Given the description of an element on the screen output the (x, y) to click on. 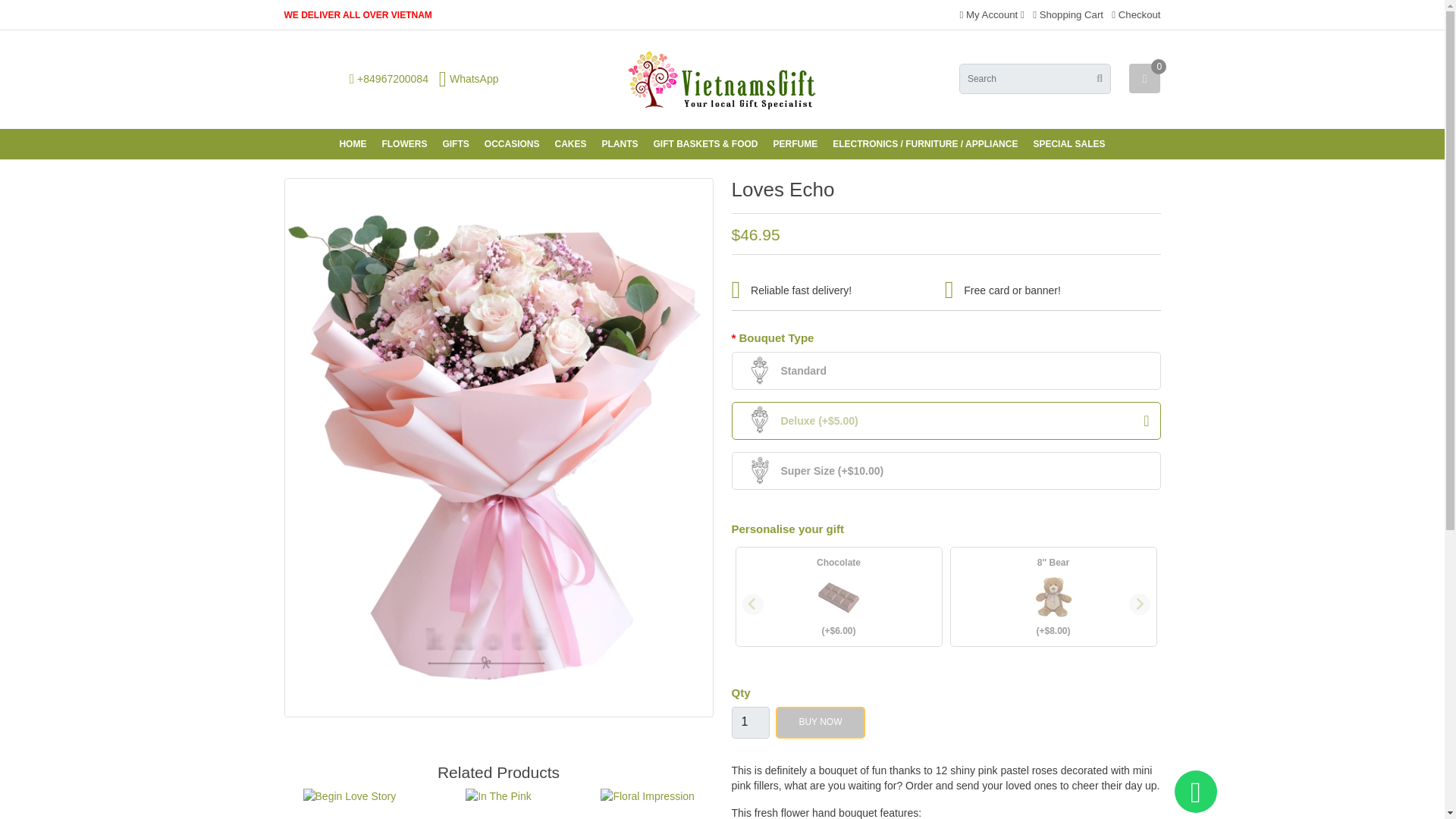
FLOWERS (403, 143)
In The Pink (498, 795)
HOME (352, 143)
Shopping Cart (1067, 14)
Checkout (1136, 14)
1 (749, 722)
Floral Impression (646, 795)
GIFTS (454, 143)
Vietnamsgift (721, 79)
Begin Love Story (349, 795)
